Given the description of an element on the screen output the (x, y) to click on. 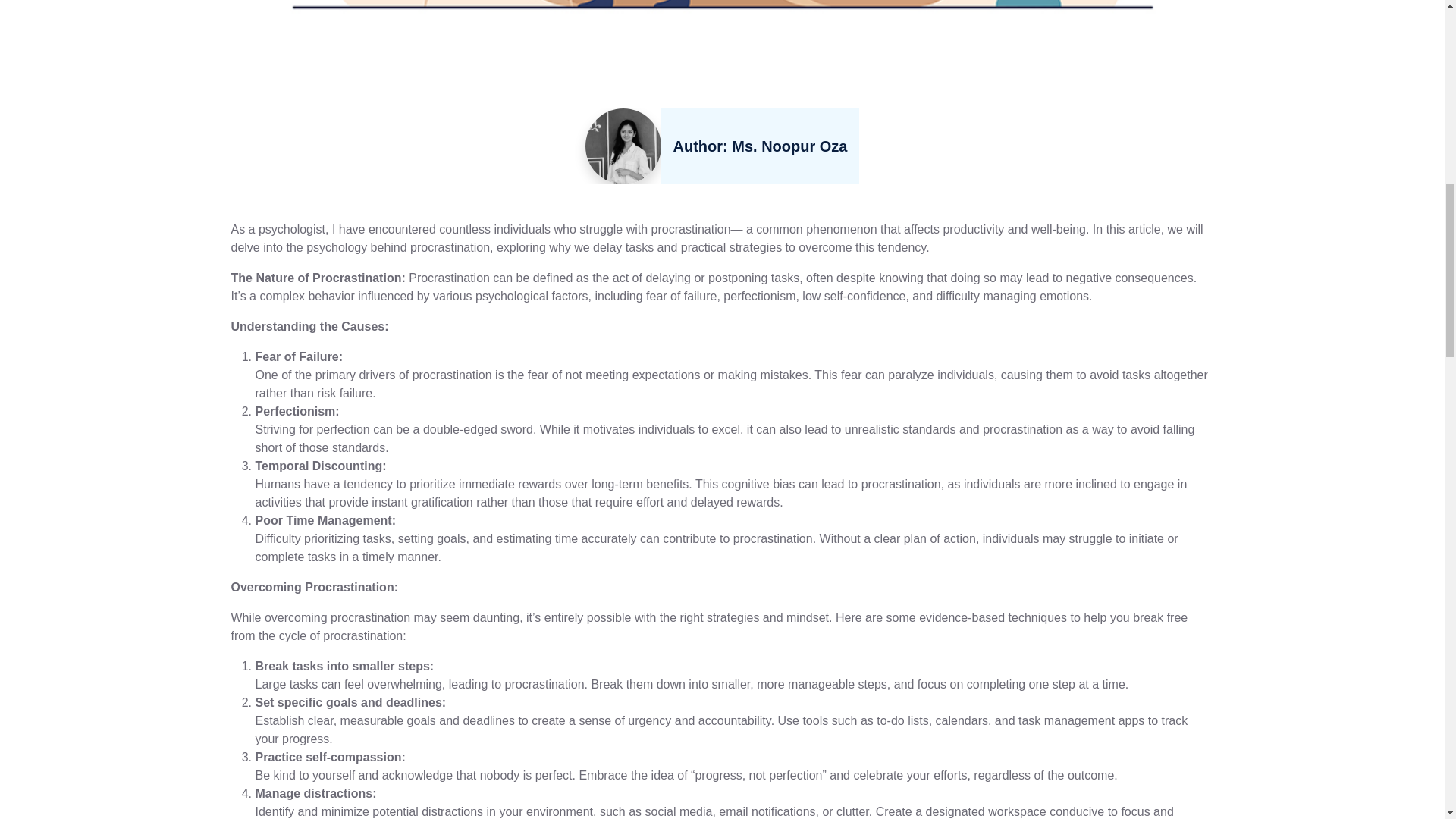
Author: Ms. Noopur Oza (760, 146)
